Given the description of an element on the screen output the (x, y) to click on. 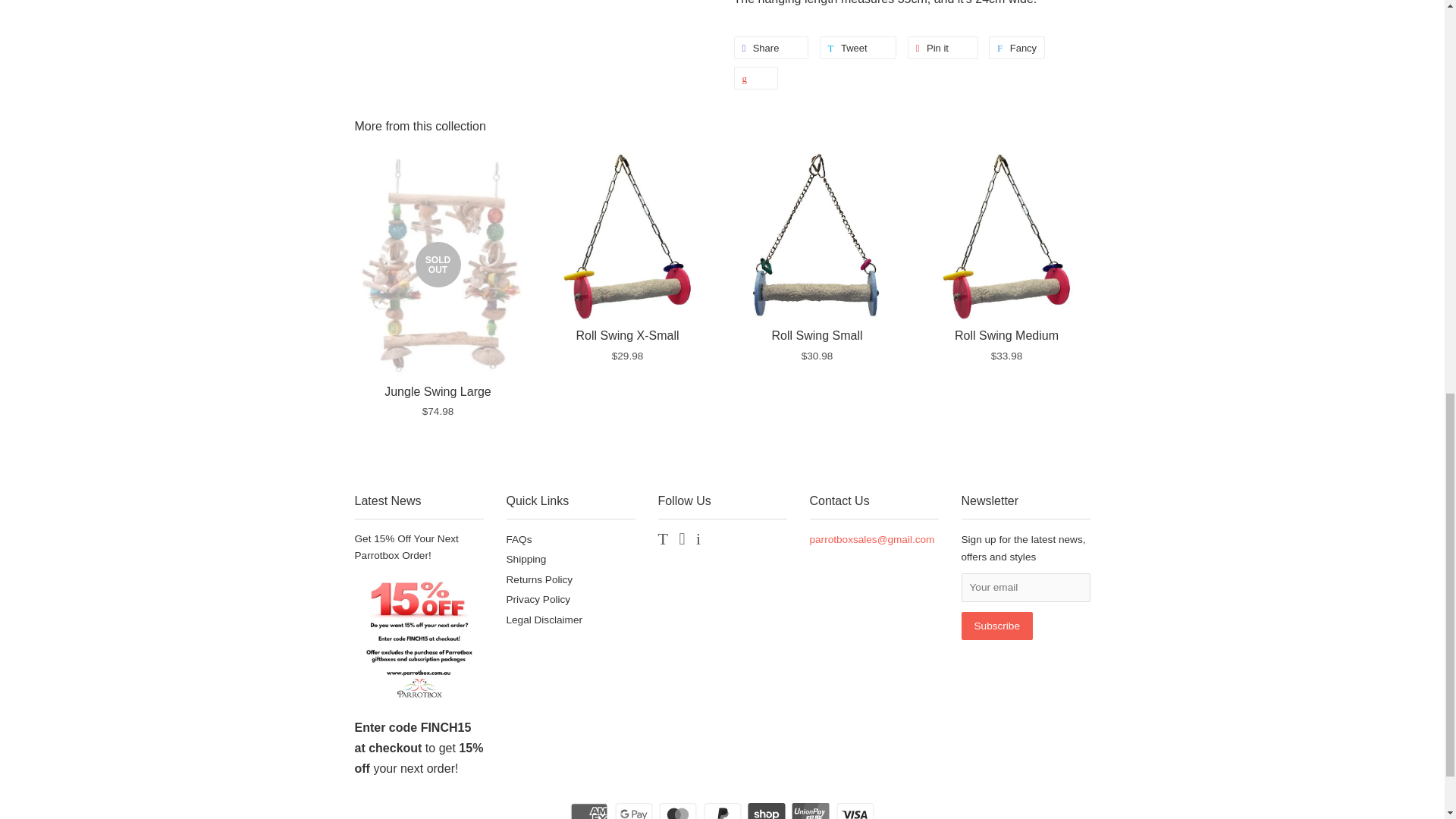
Pin it (942, 47)
Tweet (857, 47)
Subscribe (996, 625)
Share (771, 47)
